Given the description of an element on the screen output the (x, y) to click on. 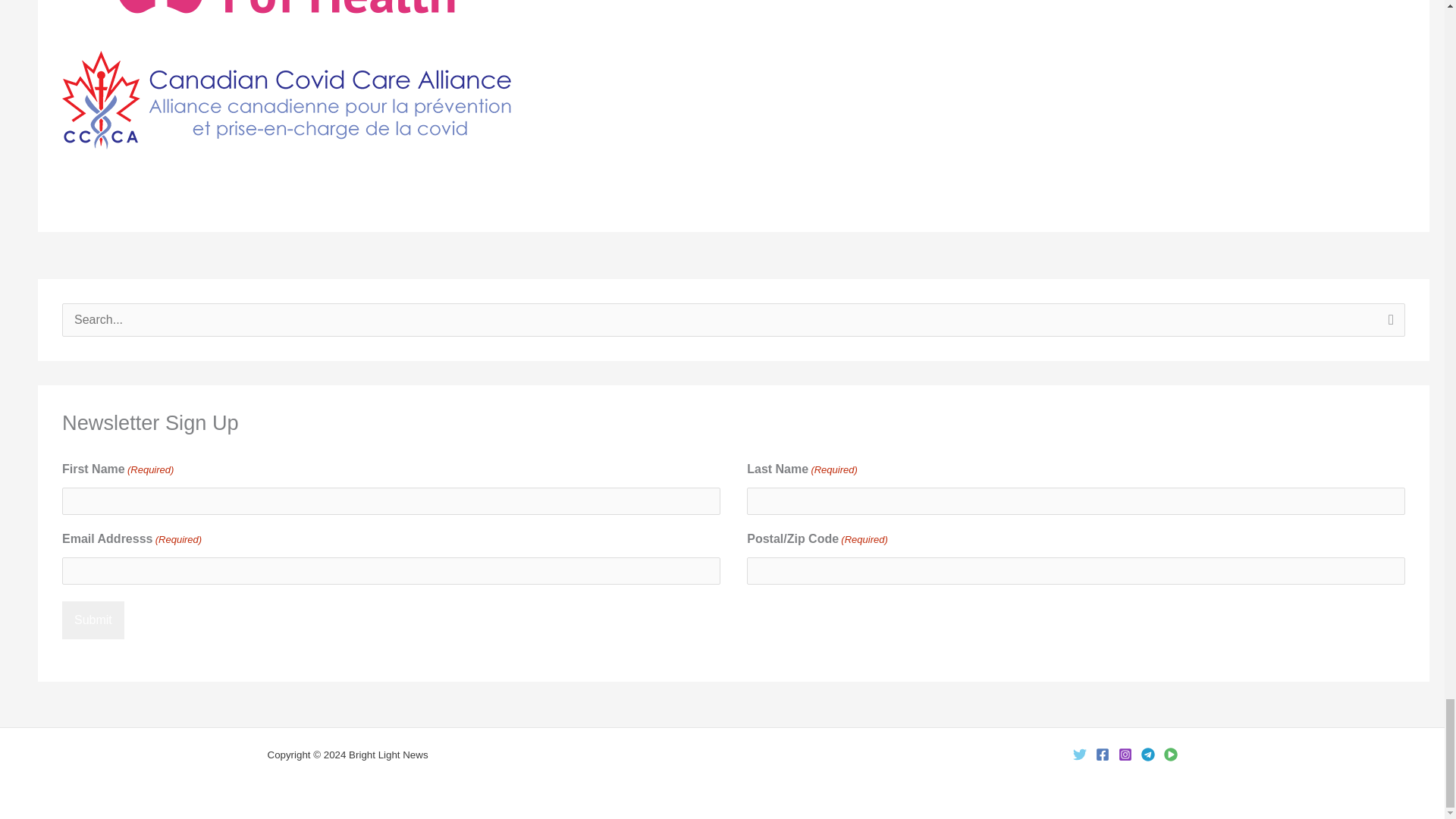
Submit (92, 619)
